Given the description of an element on the screen output the (x, y) to click on. 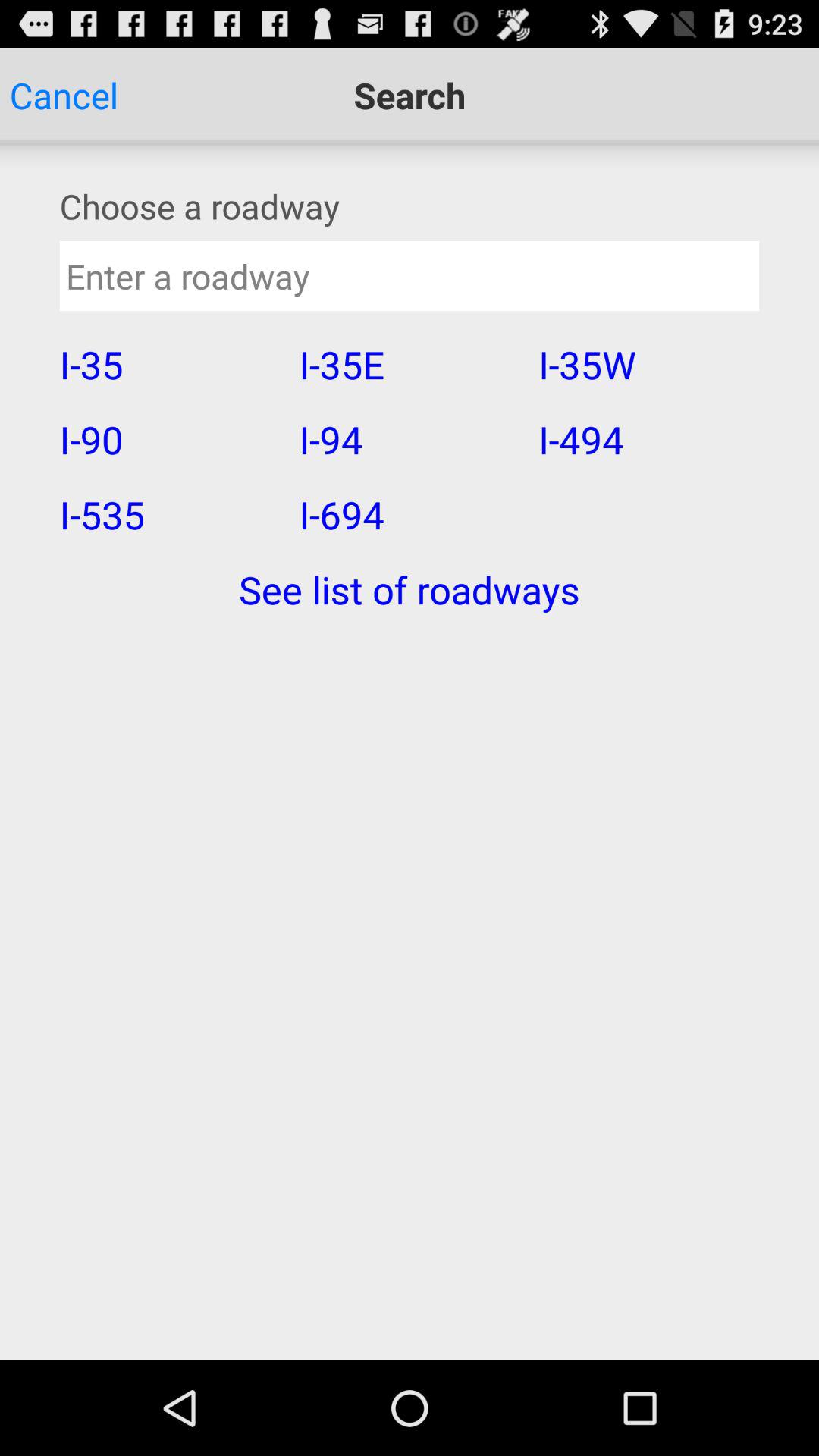
jump to i-494 icon (648, 439)
